Given the description of an element on the screen output the (x, y) to click on. 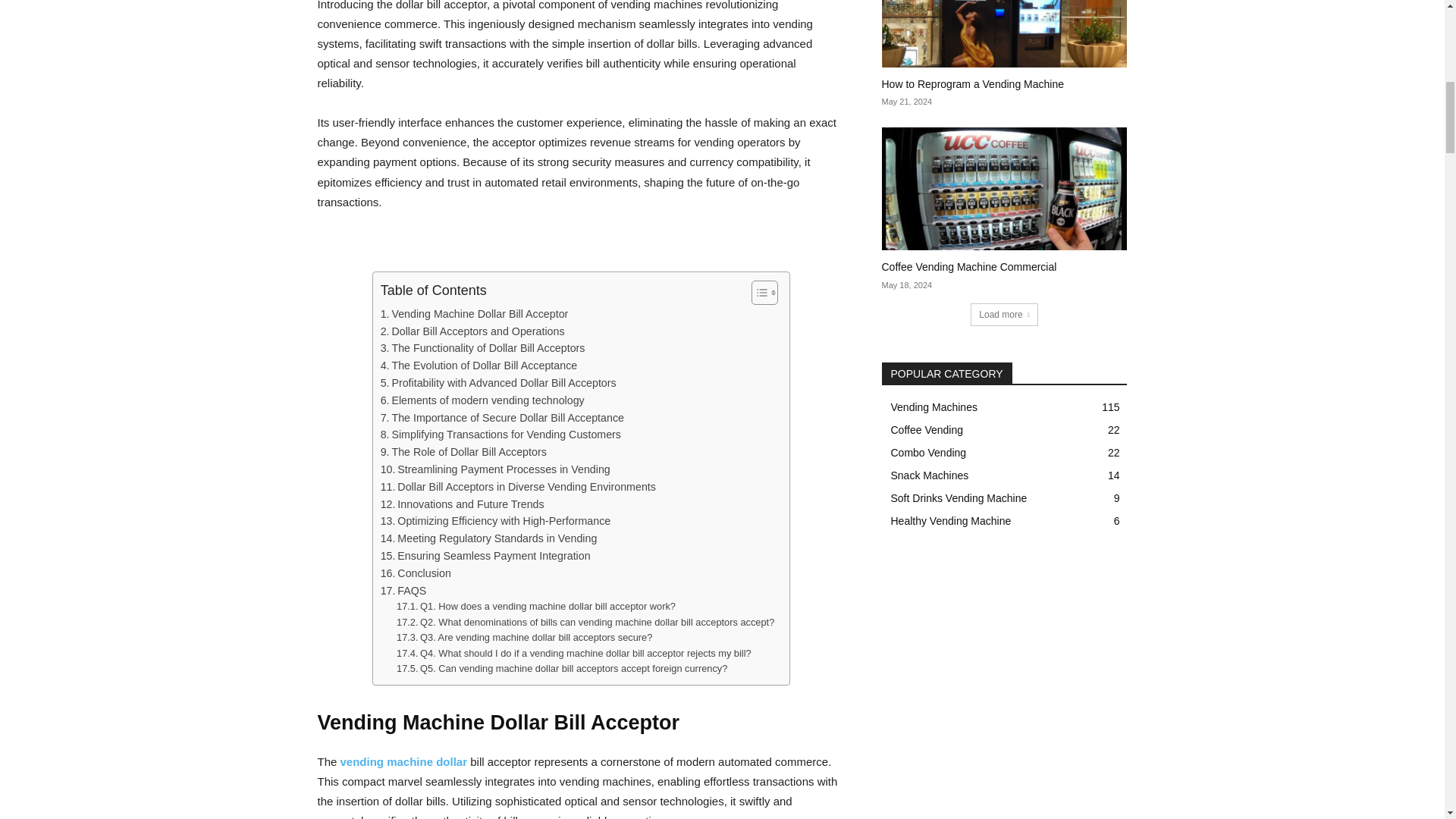
Vending Machine Dollar Bill Acceptor (474, 313)
Dollar Bill Acceptors and Operations (472, 331)
The Functionality of Dollar Bill Acceptors (482, 348)
The Evolution of Dollar Bill Acceptance (479, 365)
Profitability with Advanced Dollar Bill Acceptors (497, 383)
